Given the description of an element on the screen output the (x, y) to click on. 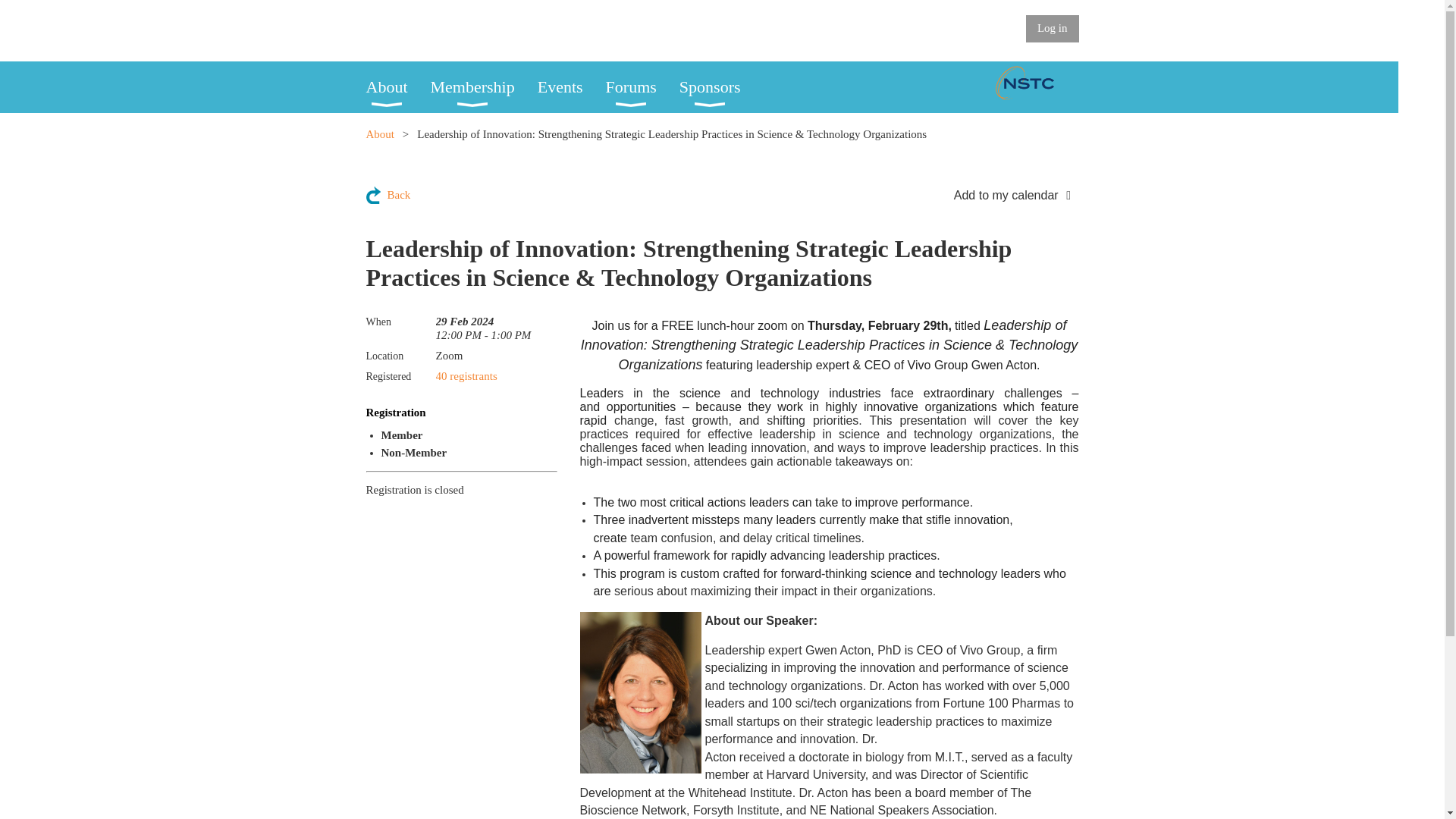
40 registrants (465, 376)
Forums (642, 87)
Back (387, 194)
Log in (1052, 28)
Sponsors (720, 87)
About (397, 87)
Events (571, 87)
Membership (483, 87)
Membership (483, 87)
Events (571, 87)
Sponsors (720, 87)
Forums (642, 87)
About (397, 87)
About (379, 133)
